Given the description of an element on the screen output the (x, y) to click on. 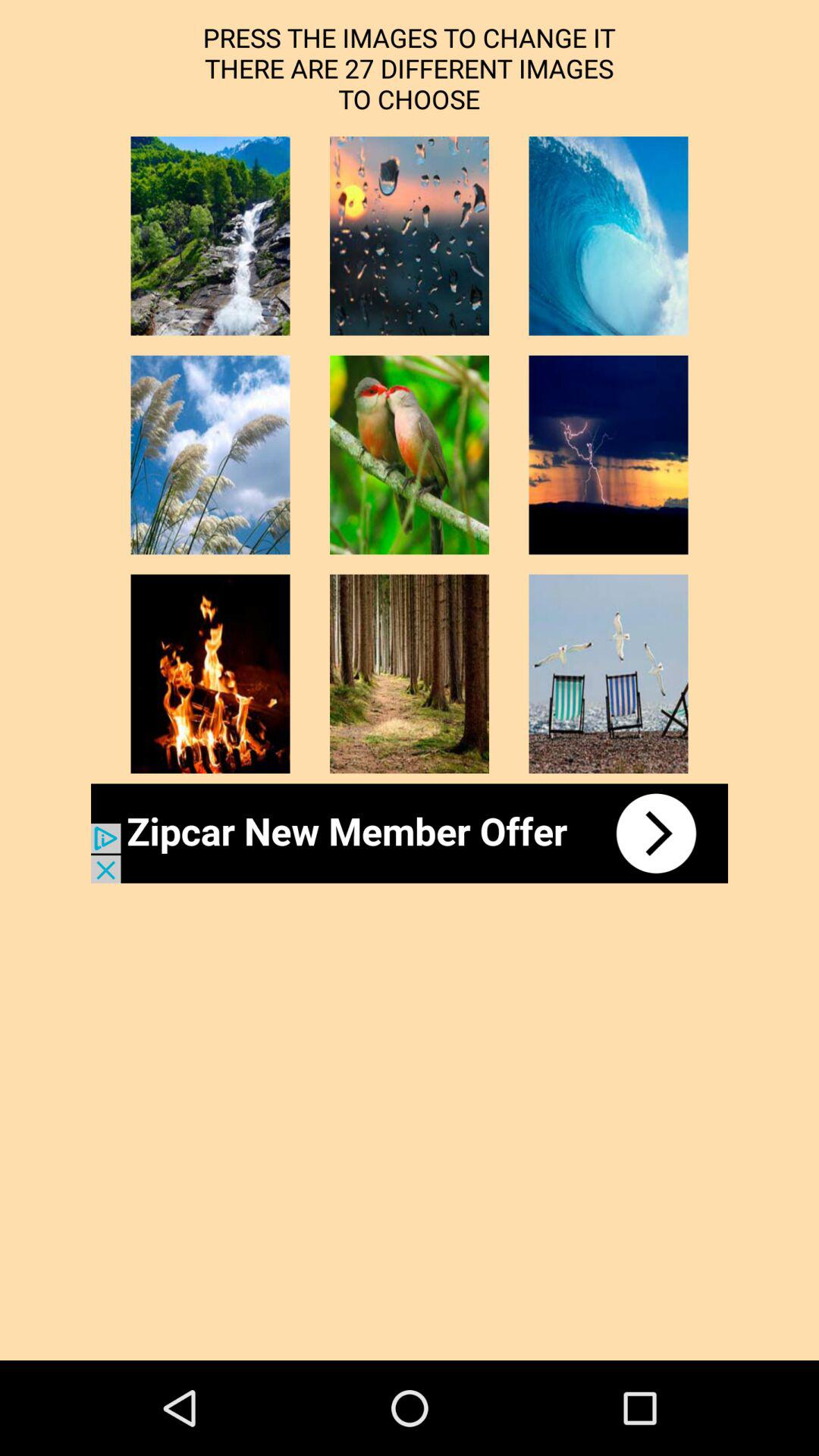
pothagrapy displayer (210, 235)
